Given the description of an element on the screen output the (x, y) to click on. 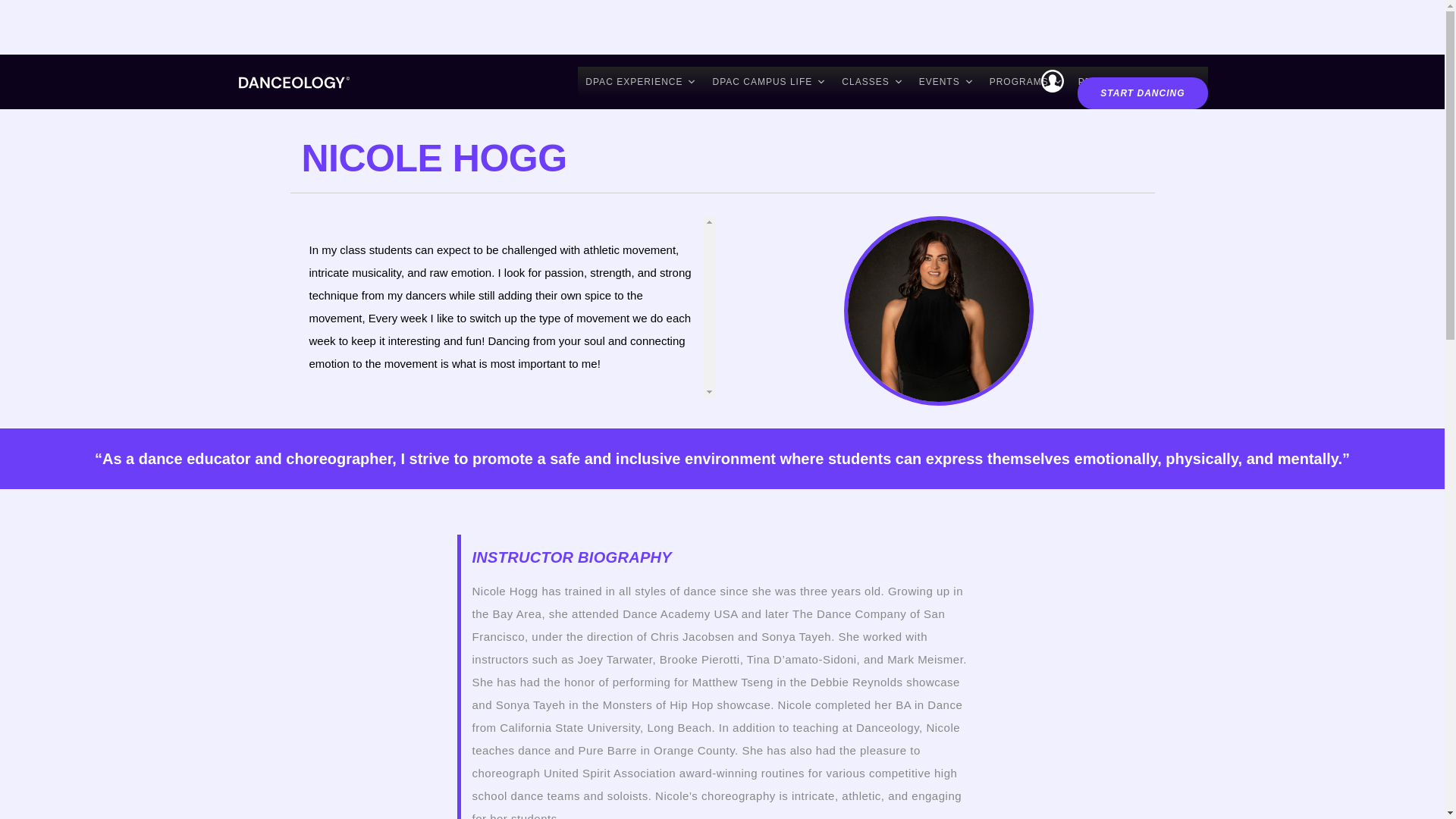
CLASSES (872, 81)
SUPPORT (1168, 81)
EVENTS (946, 81)
PRICING (1099, 81)
DPAC EXPERIENCE (641, 81)
PROGRAMS (1025, 81)
DPAC CAMPUS LIFE (769, 81)
